Given the description of an element on the screen output the (x, y) to click on. 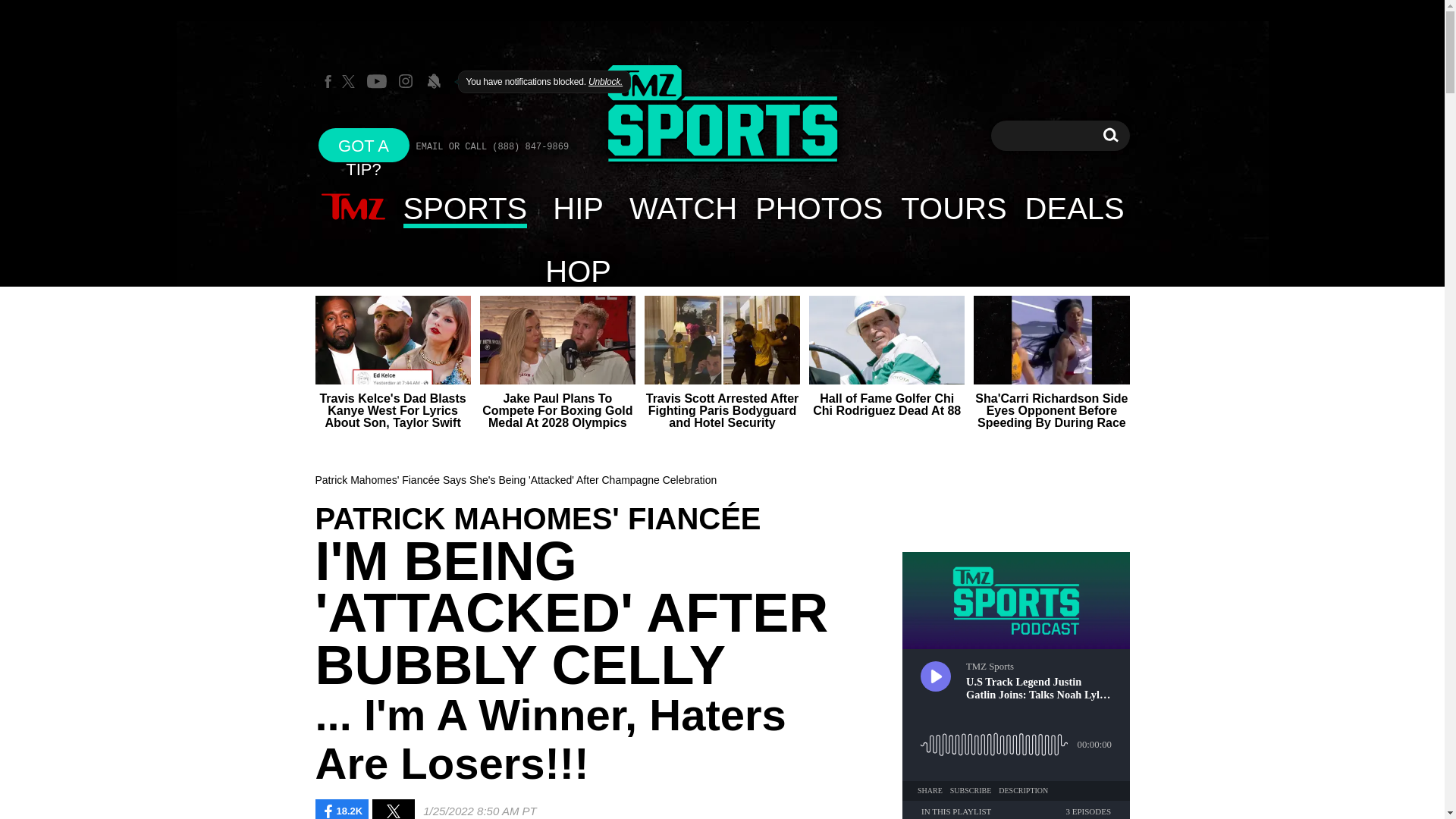
DEALS (1075, 207)
PHOTOS (818, 207)
TMZ Sports (722, 113)
GOT A TIP? (1110, 135)
WATCH (363, 144)
HIP HOP (682, 207)
Search (577, 207)
TMZ Sports (1110, 134)
